Given the description of an element on the screen output the (x, y) to click on. 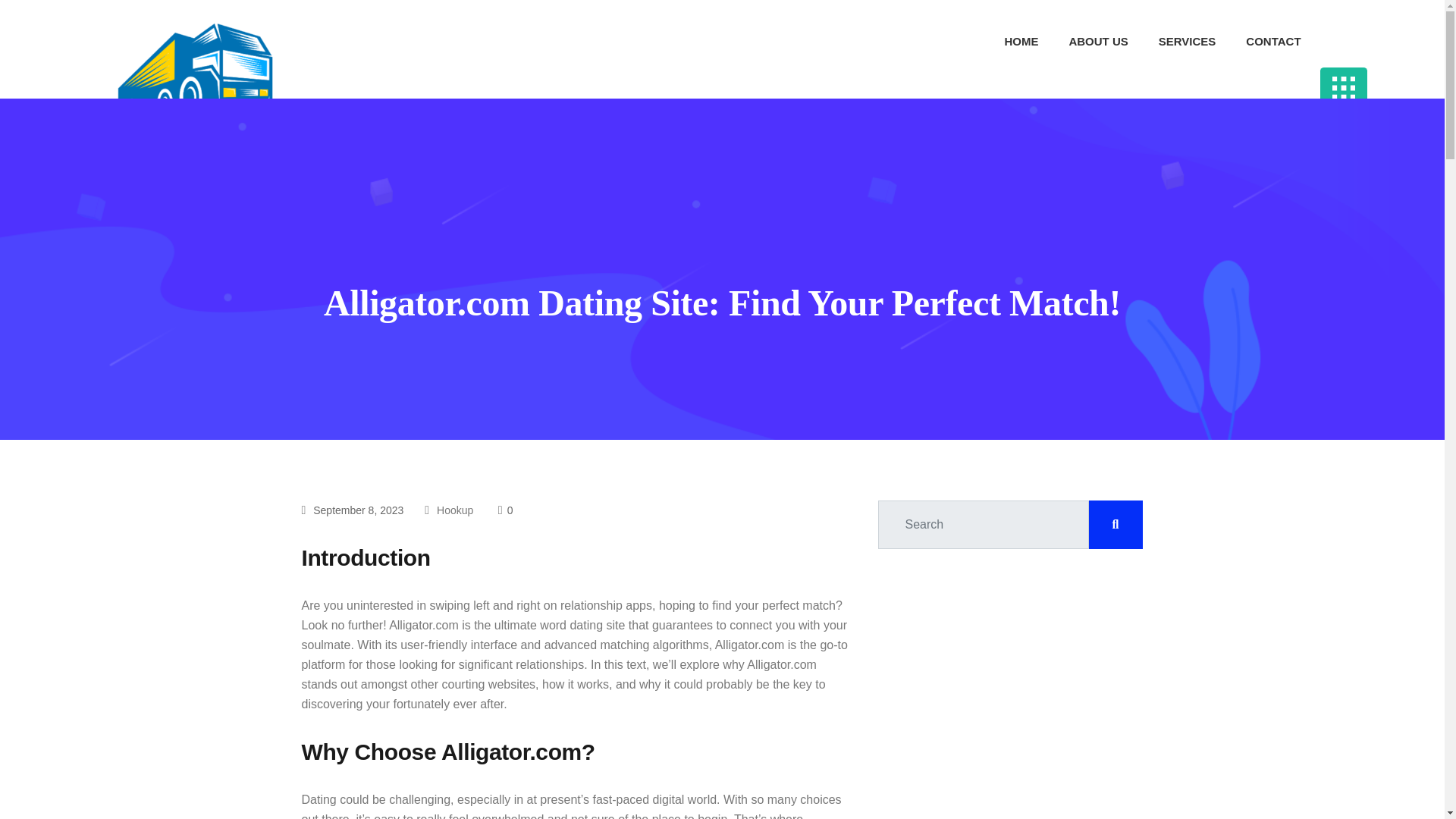
menu-icon (1343, 87)
CONTACT (1276, 42)
menu-icon (1343, 87)
Hookup (454, 510)
ABOUT US (1102, 42)
SERVICES (1190, 42)
